Given the description of an element on the screen output the (x, y) to click on. 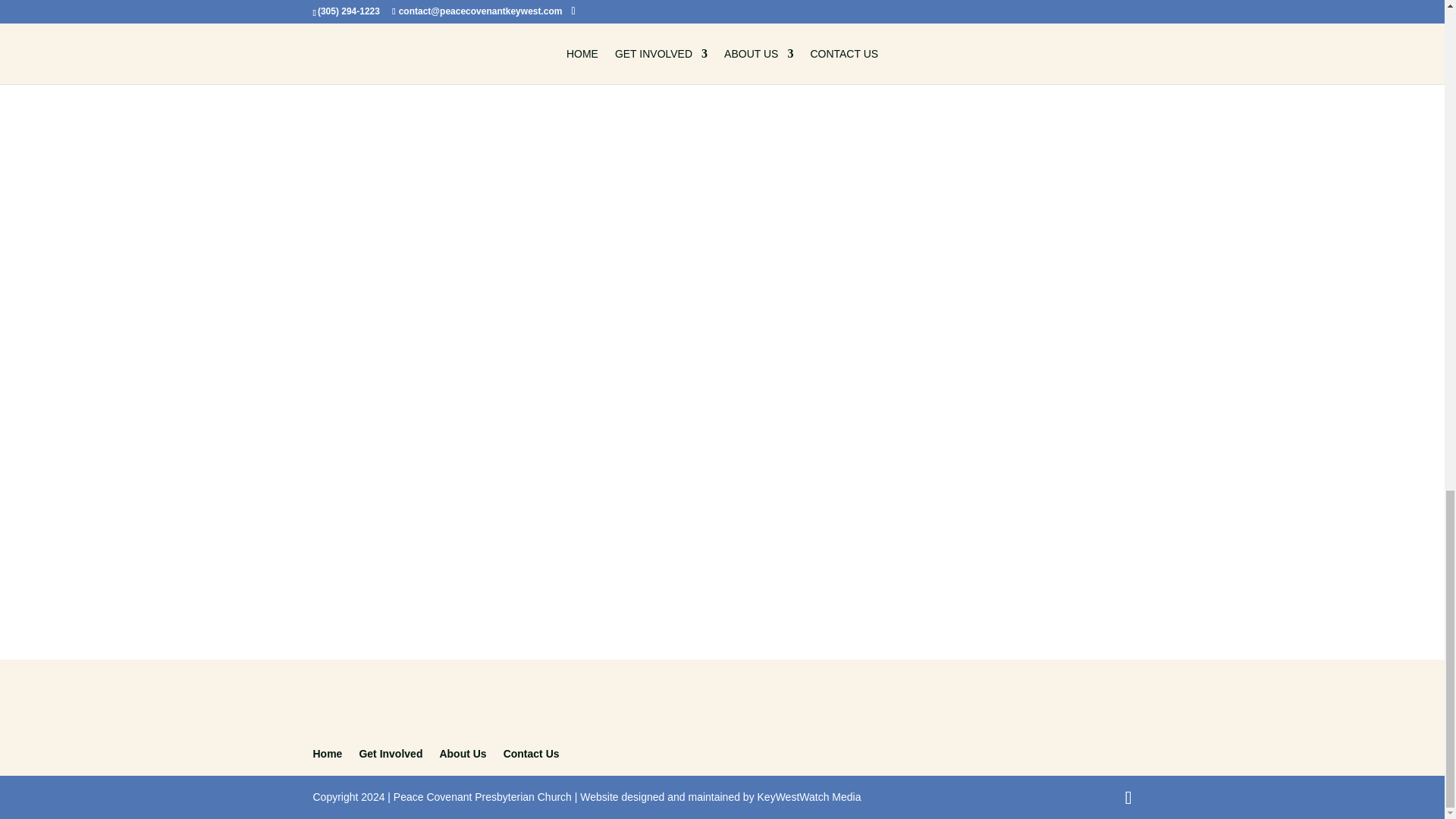
Get Involved (390, 753)
Contact Us (531, 753)
About Us (462, 753)
Home (327, 753)
